Given the description of an element on the screen output the (x, y) to click on. 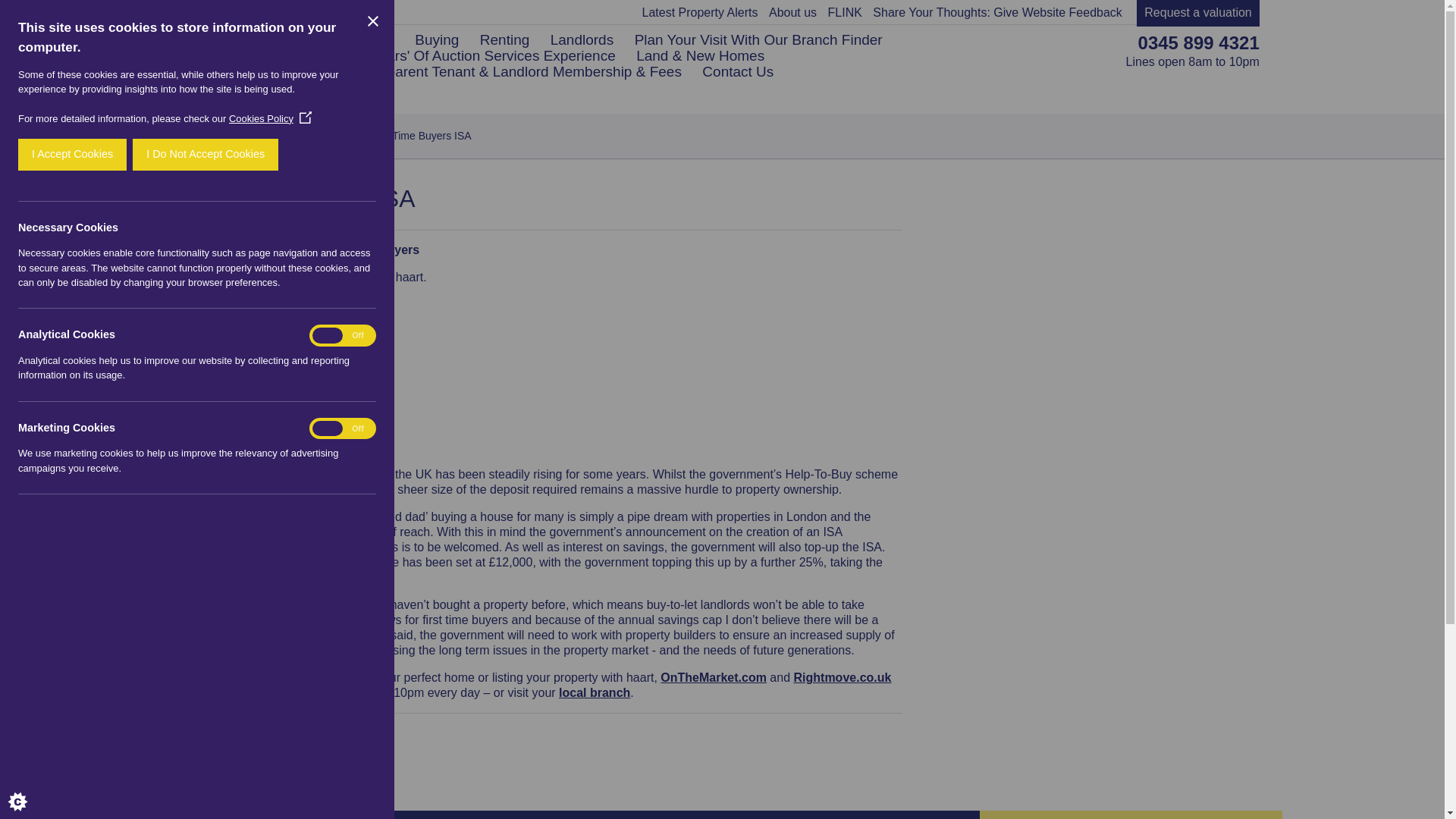
I Do Not Accept Cookies (205, 154)
Branch Finder (594, 692)
Share Your Thoughts: Give Website Feedback (997, 12)
Home (195, 135)
Contact Us (737, 71)
Rightmove.co.uk (842, 676)
OnTheMarket.com (714, 676)
Buying (436, 39)
haart Intelligent Advice video - First Time Buyer ISA (316, 374)
Landlords (581, 39)
About us (792, 12)
local branch (594, 692)
Darlows Advice - Sales (279, 134)
I Accept Cookies (71, 154)
Plan Your Visit With Our Branch Finder (758, 39)
